Given the description of an element on the screen output the (x, y) to click on. 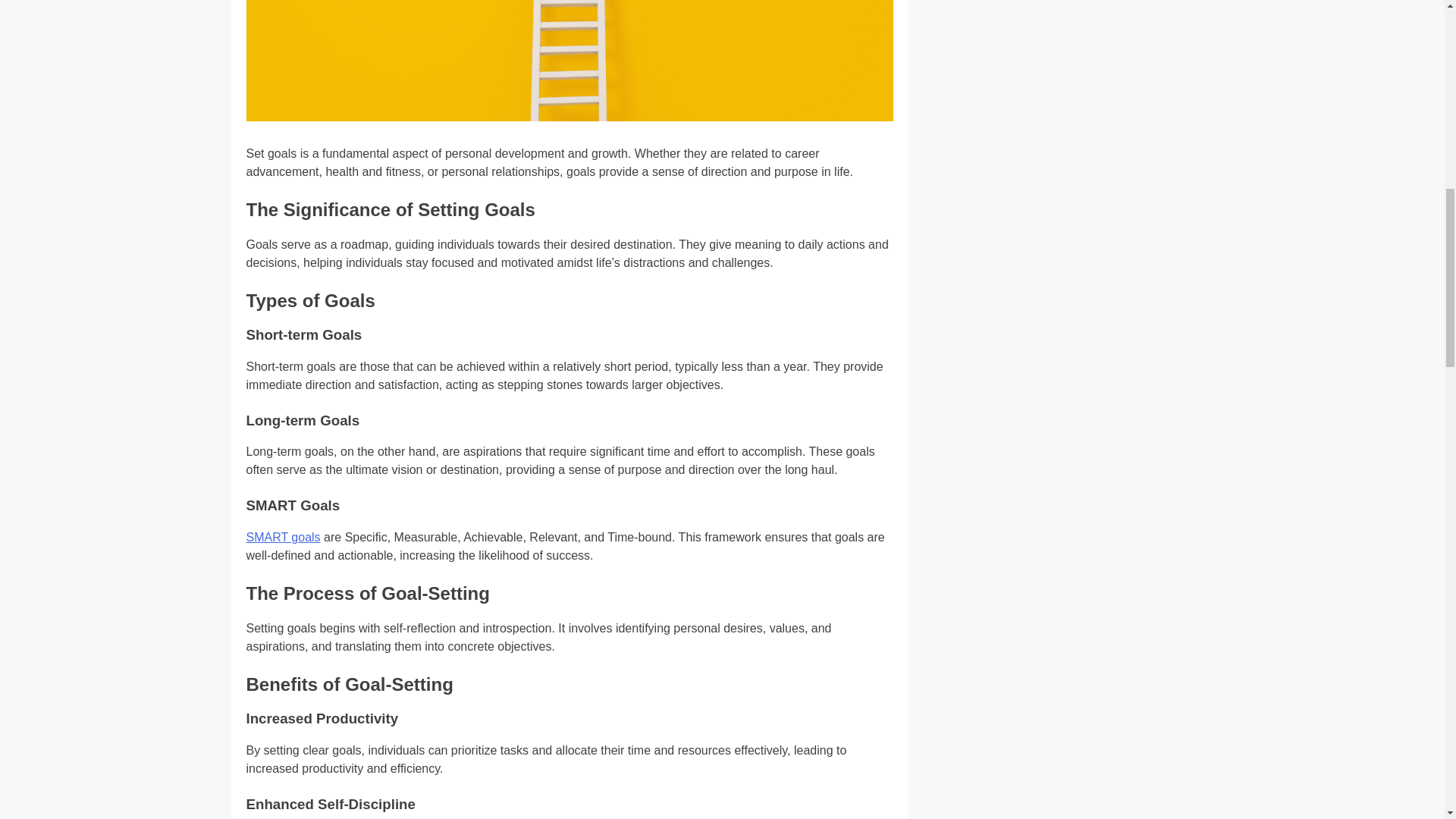
SMART goals (283, 536)
